Given the description of an element on the screen output the (x, y) to click on. 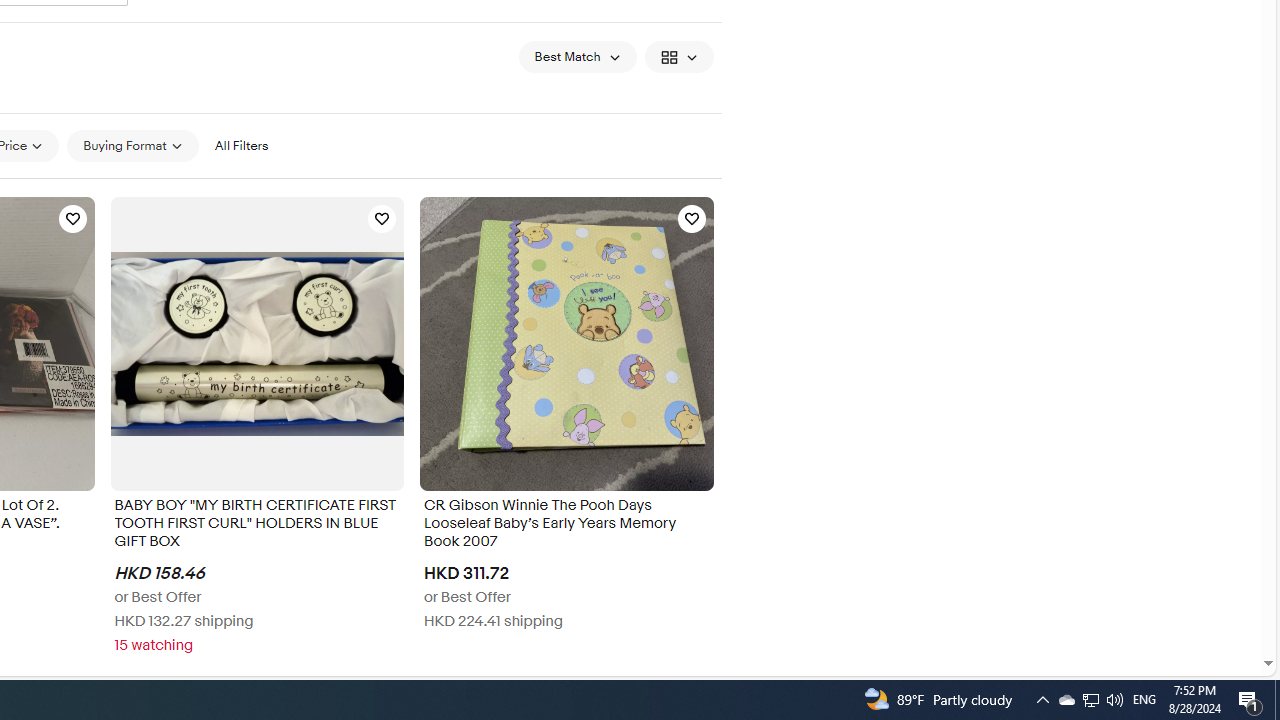
Sort: Best Match (577, 56)
View: Gallery View (678, 56)
Buying Format (132, 145)
All Filters (241, 145)
All Filters (241, 146)
Buying Format (132, 146)
